Given the description of an element on the screen output the (x, y) to click on. 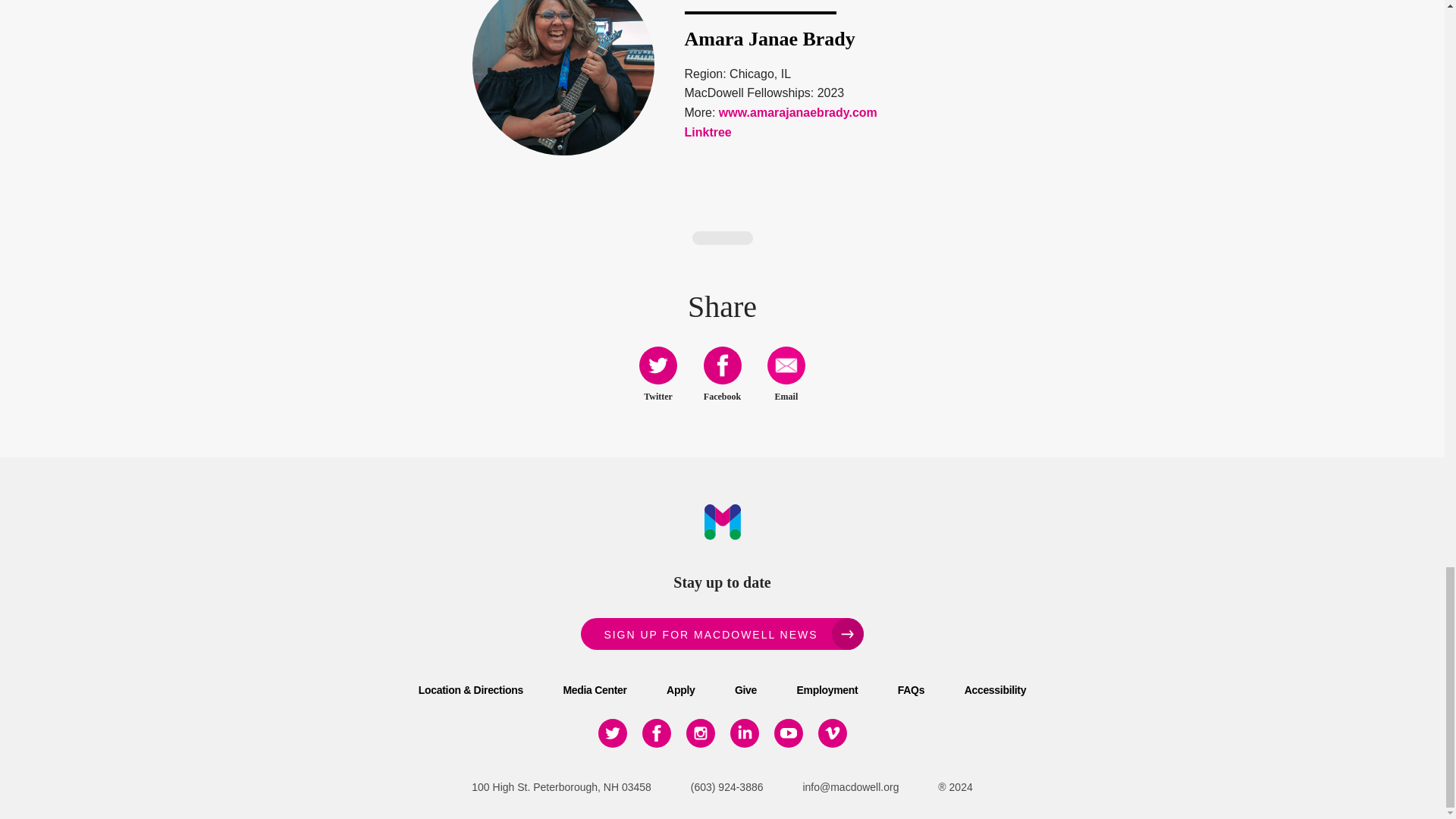
View us on Instagram (699, 733)
View us on Vimeo (830, 733)
Linktree (707, 132)
View us on LinkedIn (743, 733)
View us on YouTube (787, 733)
Amara Janae Brady (769, 38)
Twitter (658, 365)
Amara Janae Brady (562, 77)
www.amarajanaebrady.com (798, 112)
View us on Facebook (655, 733)
View us on Twitter (611, 733)
